Given the description of an element on the screen output the (x, y) to click on. 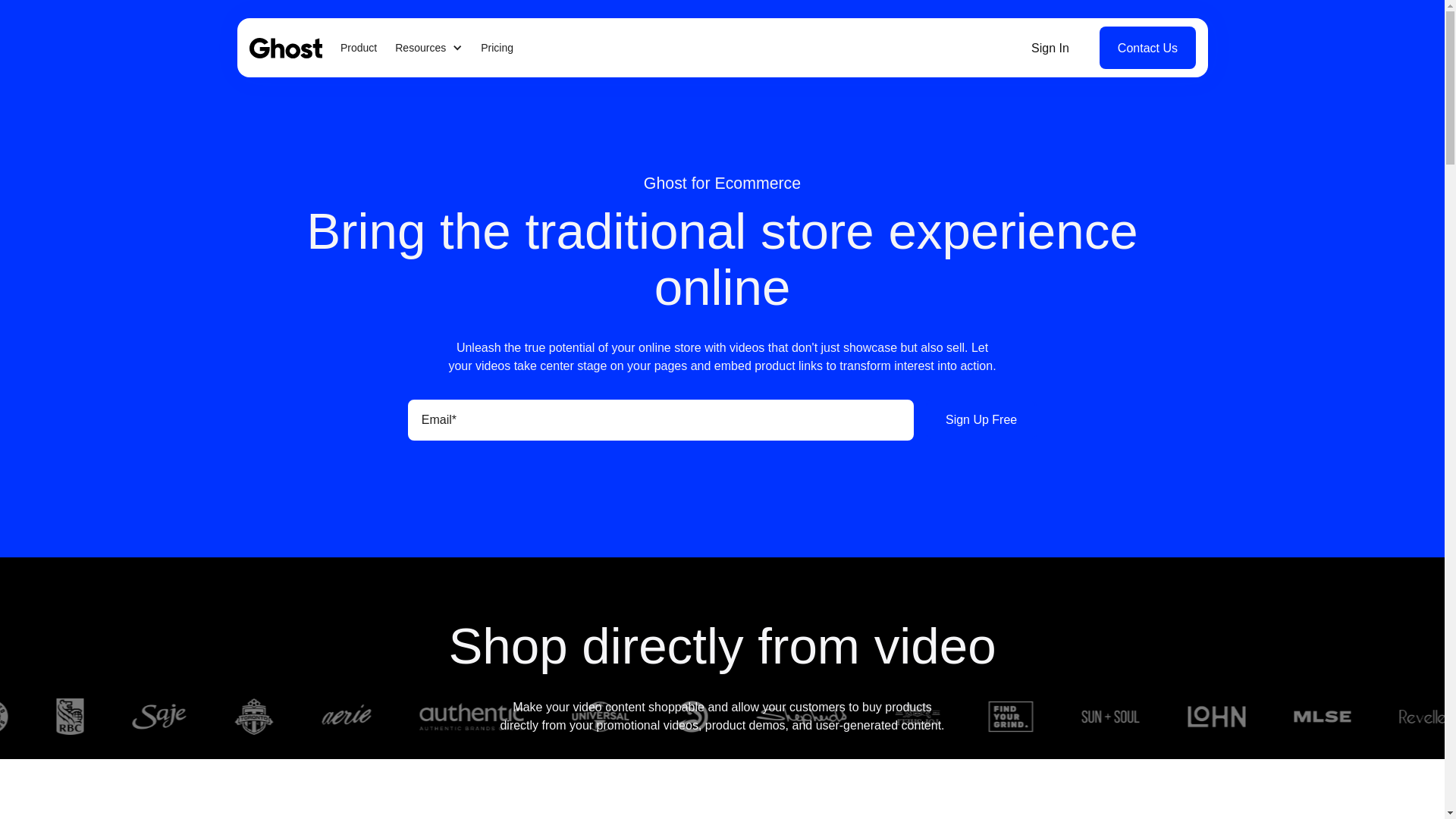
Pricing (496, 47)
Sign Up Free (981, 419)
Contact Us (1147, 47)
Product (357, 47)
Sign Up Free (981, 419)
Sign In (1050, 47)
